Given the description of an element on the screen output the (x, y) to click on. 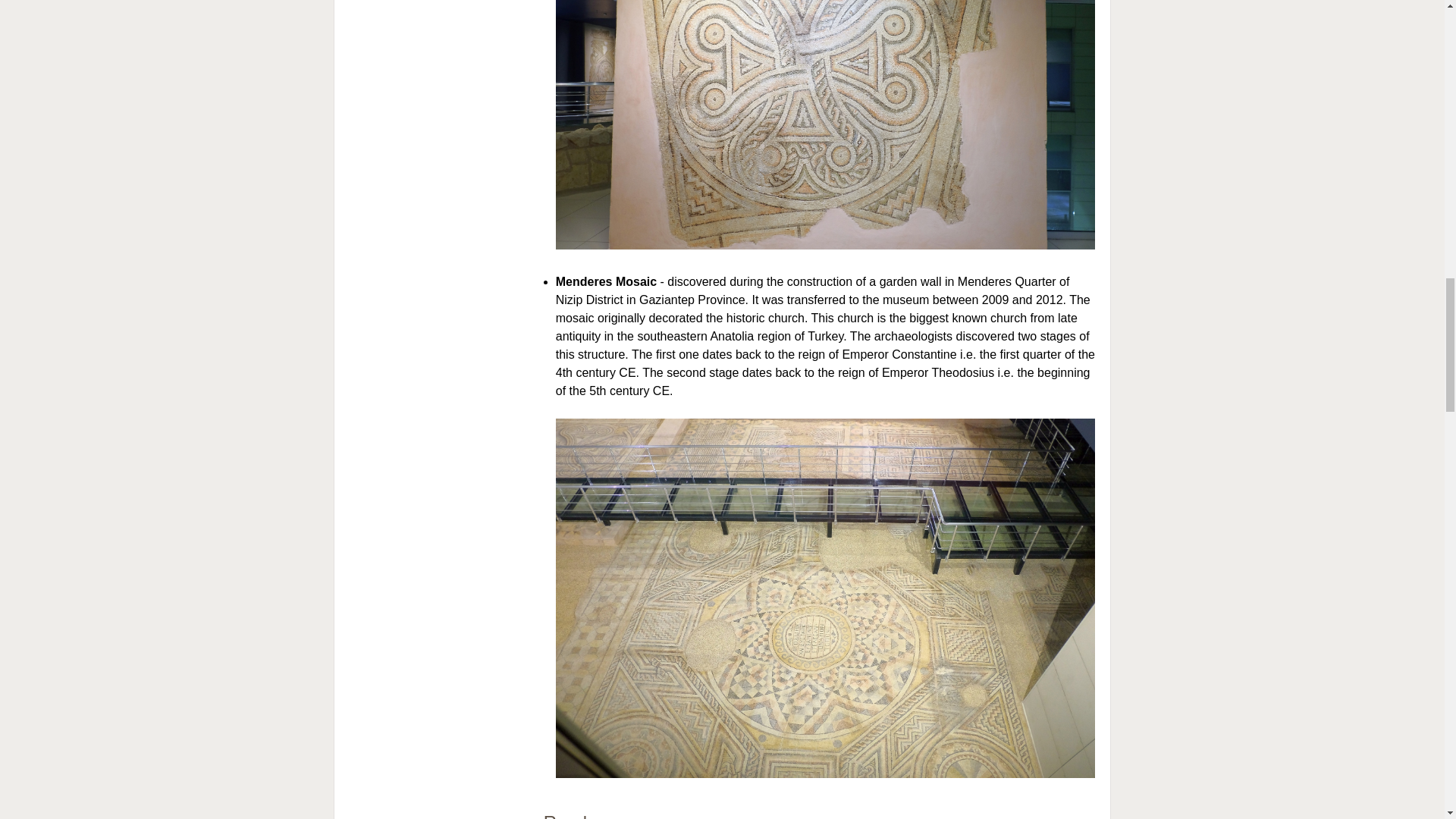
Menderes Mosaic, Zeugma Mosaic Museum (825, 773)
